Given the description of an element on the screen output the (x, y) to click on. 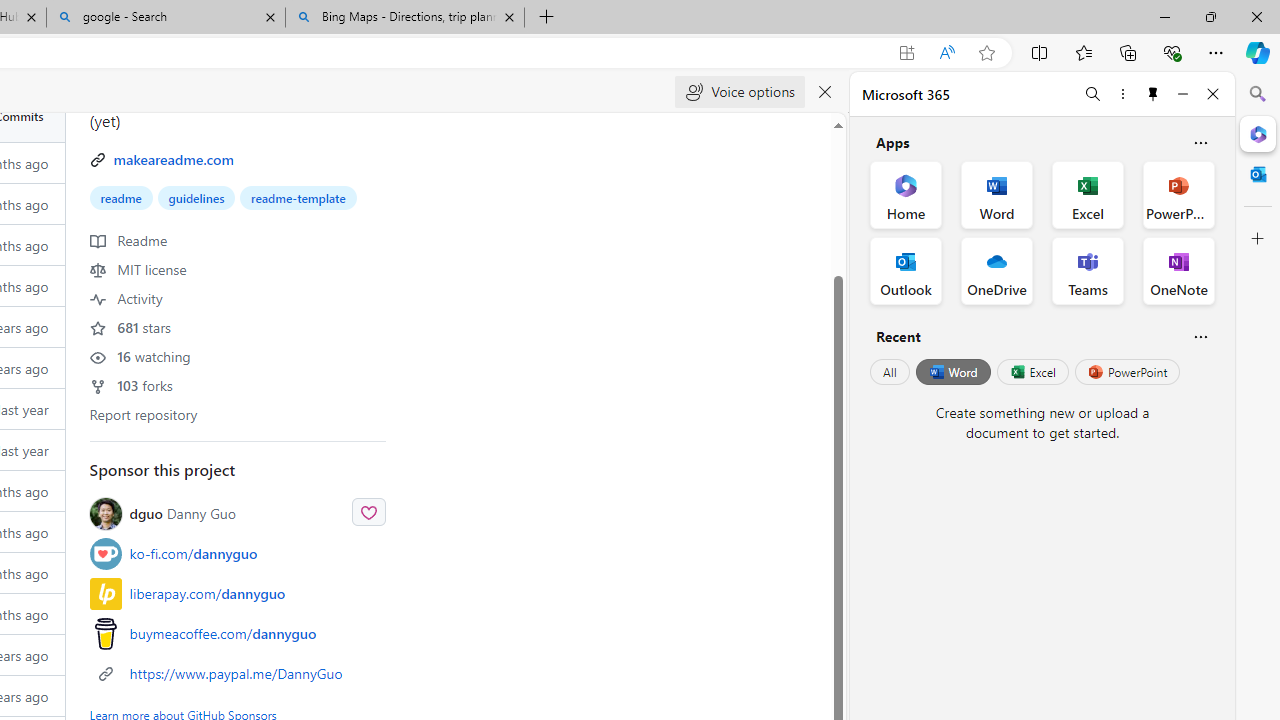
readme-template (298, 197)
Voice options (740, 92)
PowerPoint Office App (1178, 194)
App available. Install GitHub (906, 53)
Outlook Office App (906, 270)
google - Search (166, 17)
Unpin side pane (1153, 93)
dguo Danny Guo (237, 512)
103 forks (130, 385)
https://www.paypal.me/DannyGuo (236, 673)
